Given the description of an element on the screen output the (x, y) to click on. 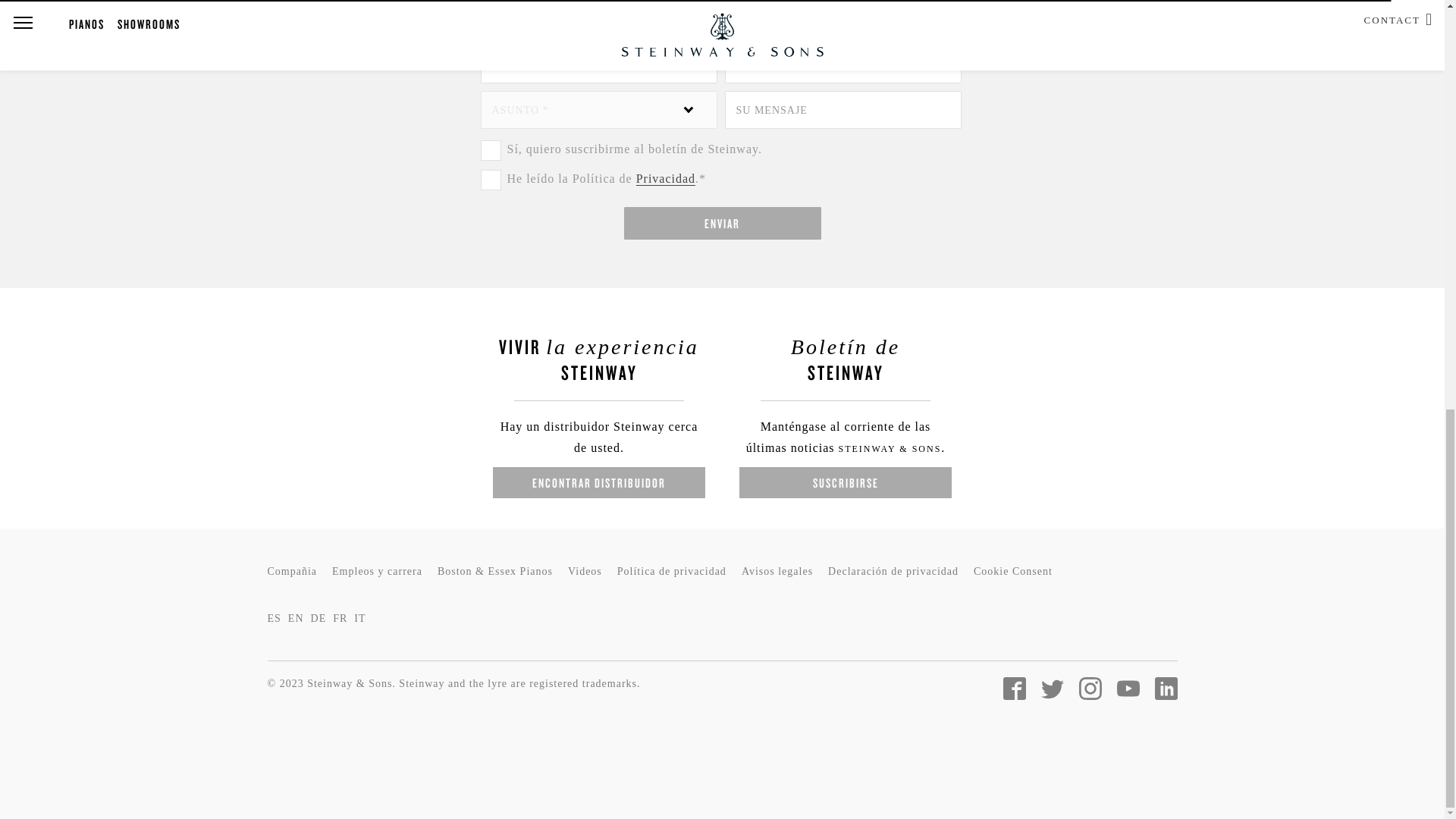
ENVIAR (722, 223)
ENCONTRAR DISTRIBUIDOR (598, 481)
Opens internal link in current window (665, 178)
Privacidad (665, 178)
